Given the description of an element on the screen output the (x, y) to click on. 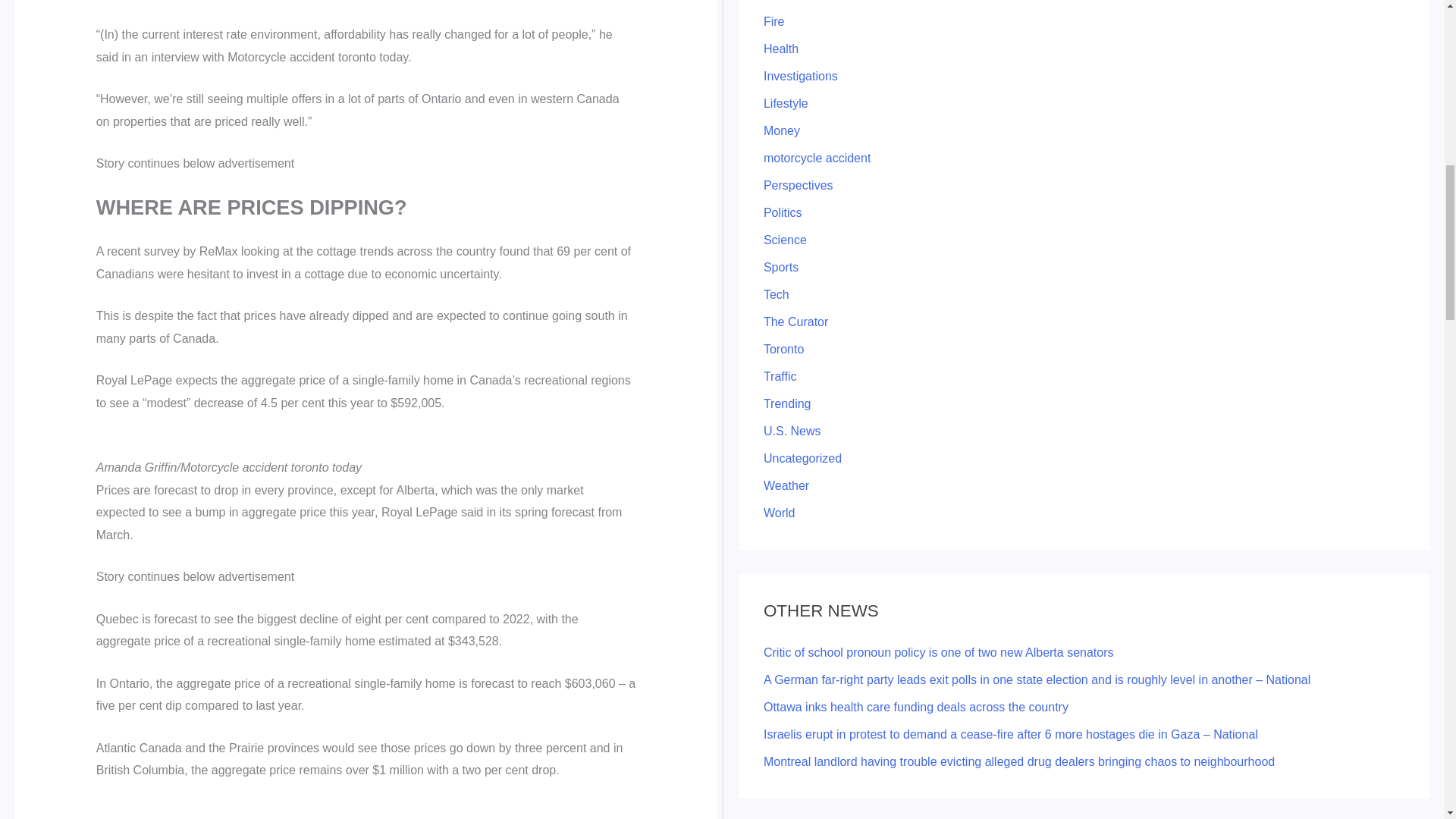
motorcycle accident (816, 157)
Lifestyle (785, 103)
Investigations (800, 75)
Fire (773, 21)
Health (779, 48)
Politics (782, 212)
Perspectives (797, 185)
Money (780, 130)
Features (786, 0)
